Given the description of an element on the screen output the (x, y) to click on. 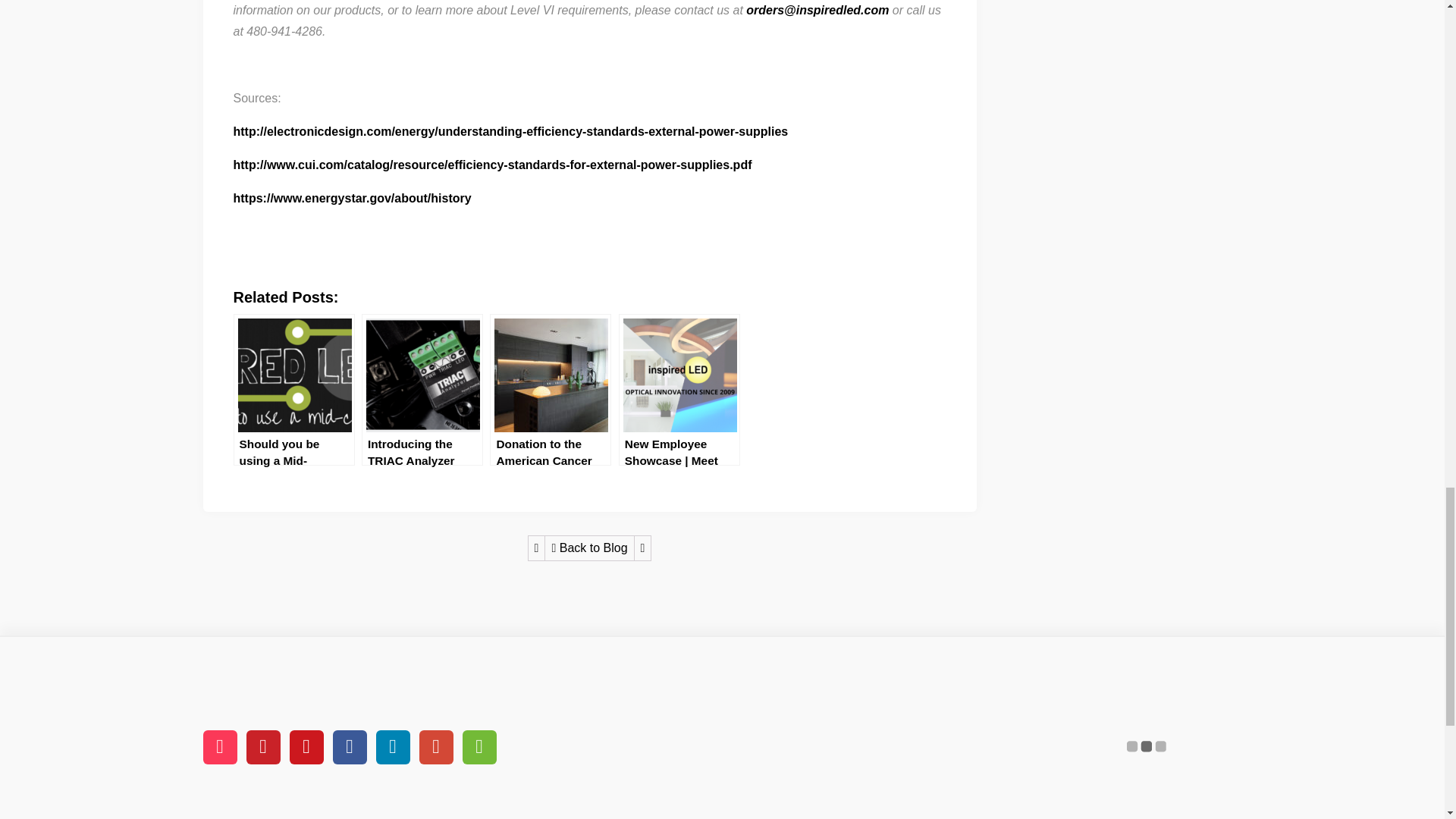
instagram (220, 747)
pinterest (262, 747)
youtube (306, 747)
facebook (348, 747)
twitter (392, 747)
houzz (479, 747)
google plus (435, 747)
Back to Blog (588, 548)
payments accepted (1146, 735)
